Given the description of an element on the screen output the (x, y) to click on. 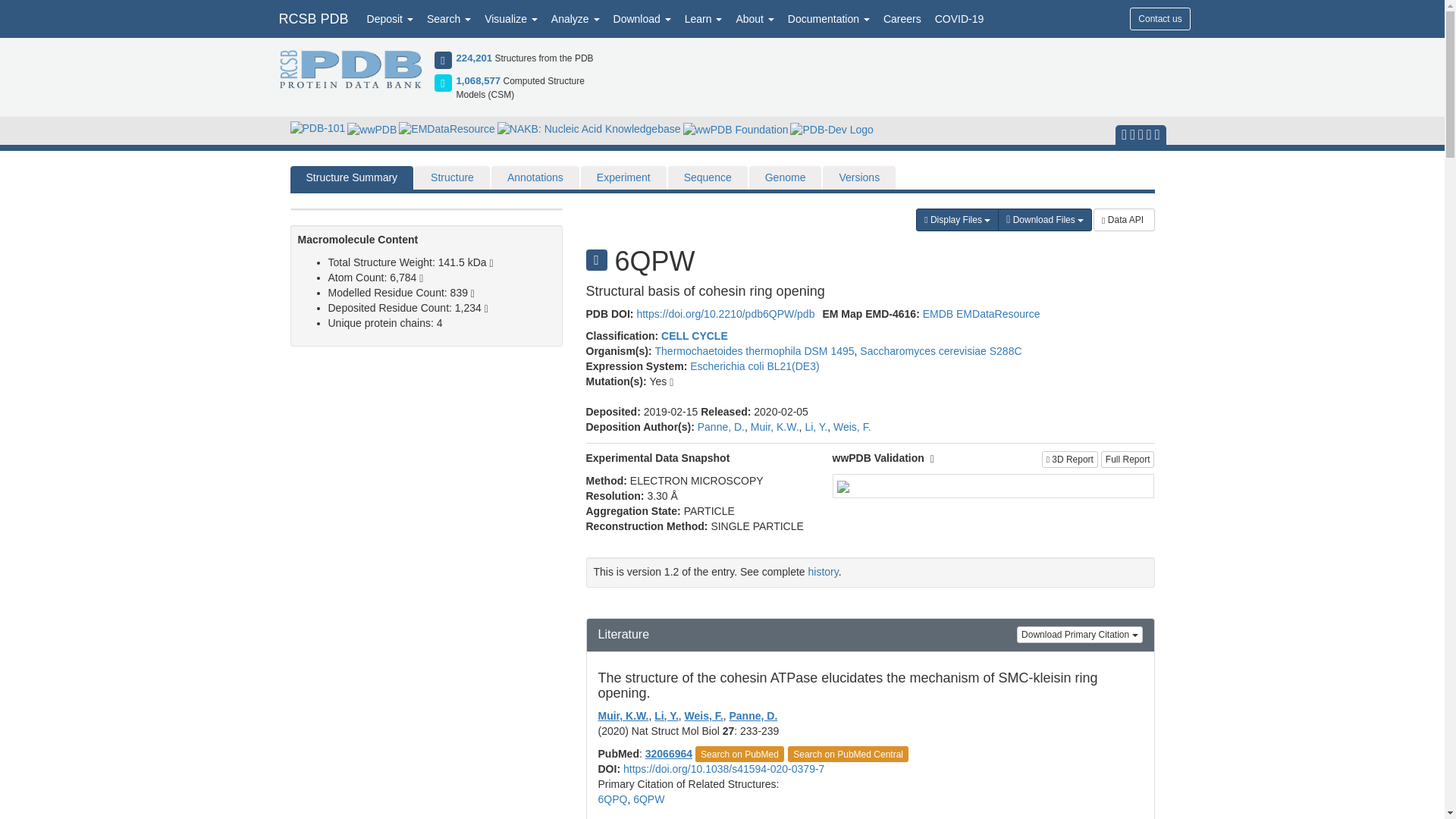
Visualize  (510, 18)
Deposit  (389, 18)
RCSB PDB (312, 18)
Search  (448, 18)
Analyze  (575, 18)
